Given the description of an element on the screen output the (x, y) to click on. 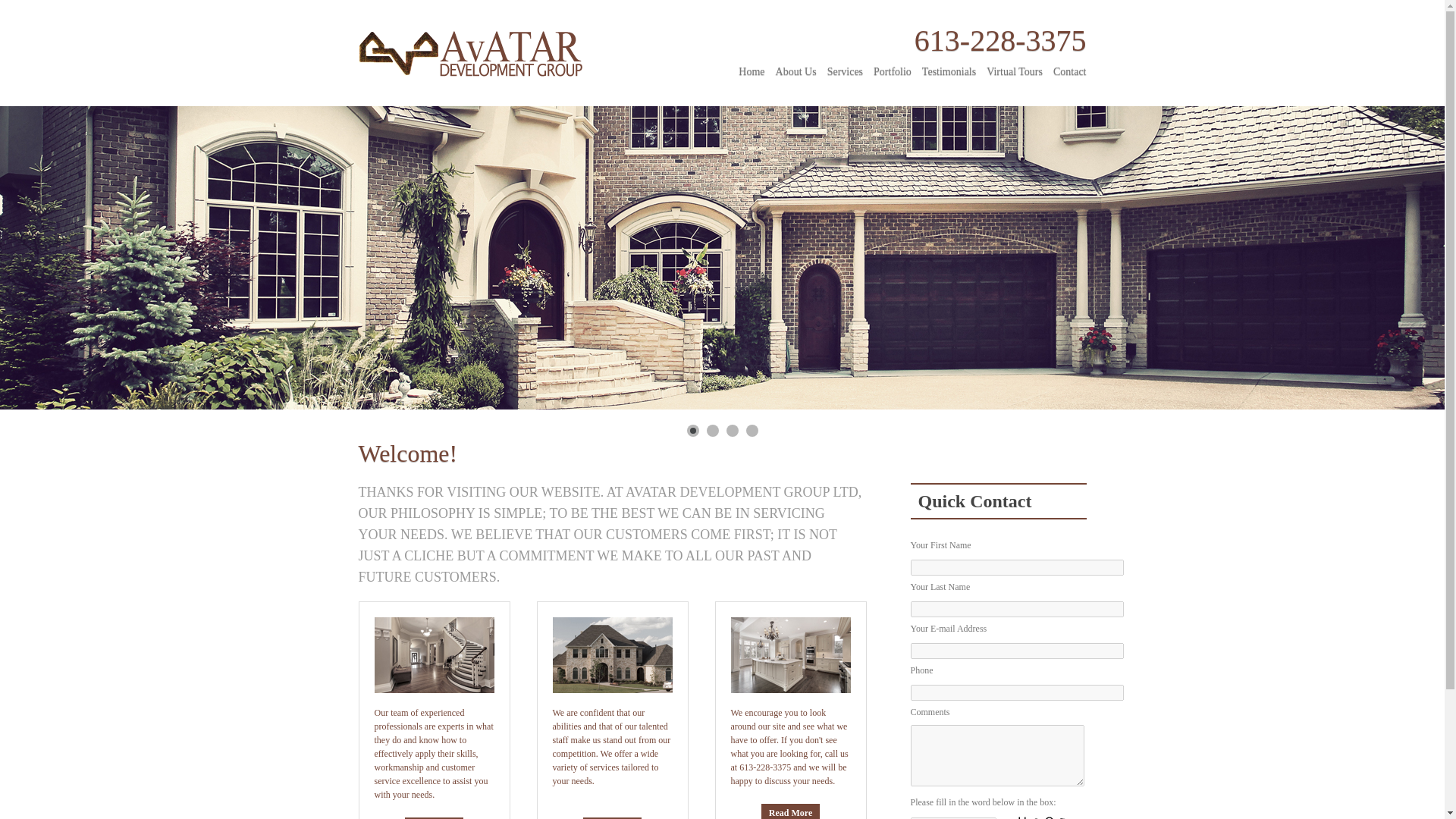
About Us (790, 67)
Portfolio (887, 67)
Home Builders Ottawa - Portfolio (887, 67)
Read More (433, 818)
Home (746, 67)
Read More (612, 818)
Home Builders Ottawa - About Us (790, 67)
Testimonials (943, 67)
Services (839, 67)
Home Builders Ottawa - Services (839, 67)
